Given the description of an element on the screen output the (x, y) to click on. 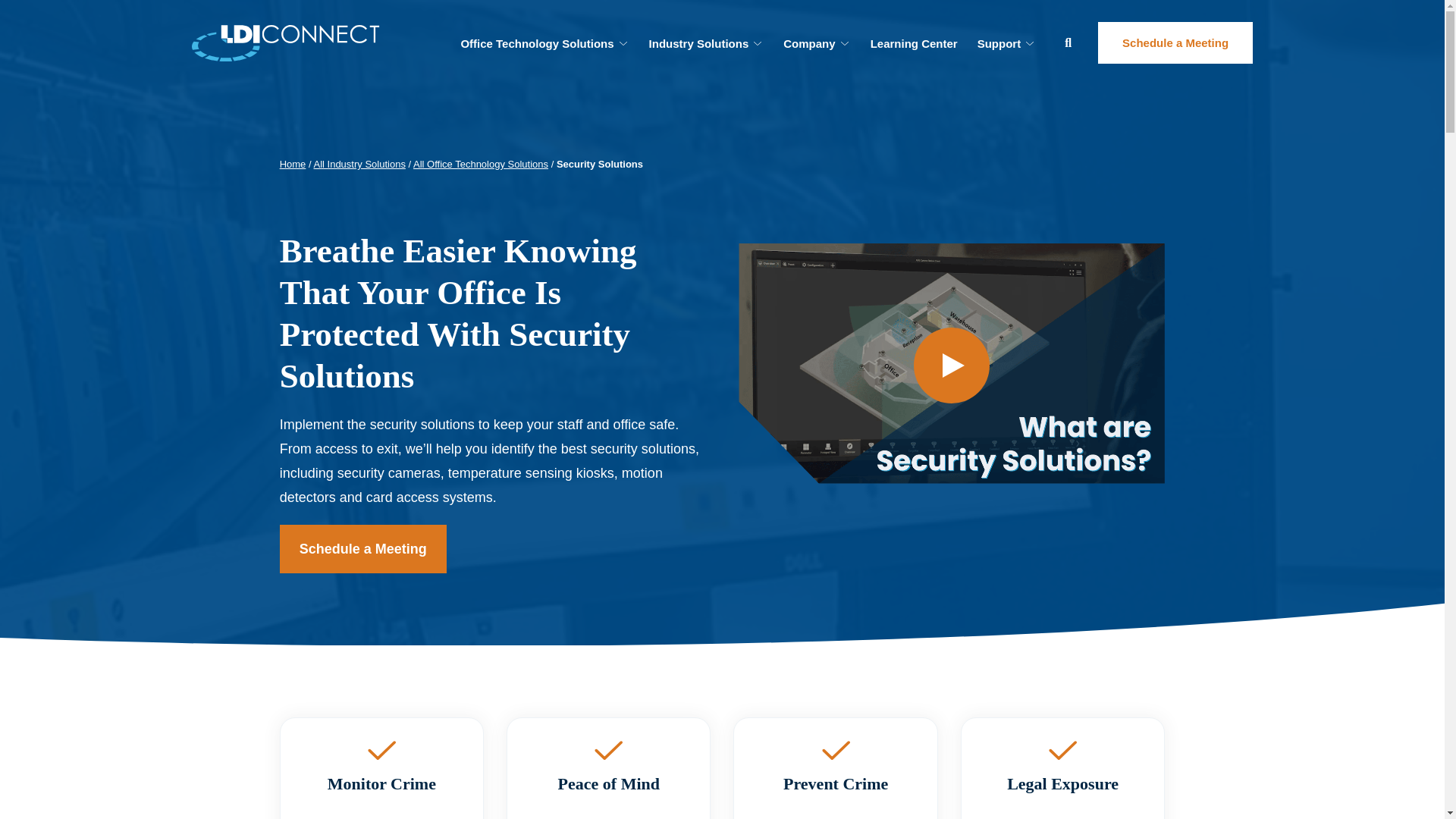
Home (292, 163)
All Office Technology Solutions (480, 163)
Video Poster Image (952, 365)
Support (1007, 42)
Learning Center (914, 42)
Schedule a Meeting (362, 548)
Schedule a Meeting (1174, 42)
All Industry Solutions (358, 163)
